Given the description of an element on the screen output the (x, y) to click on. 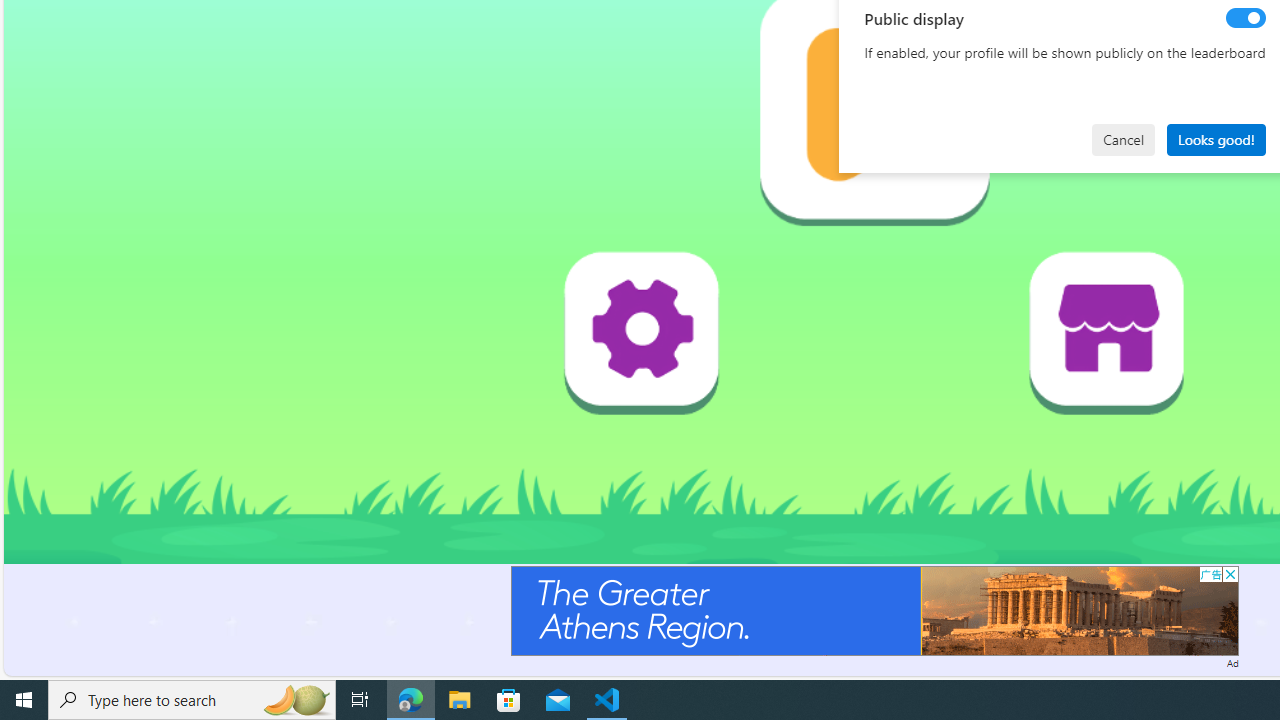
AutomationID: cbb (1229, 574)
Advertisement (874, 610)
Advertisement (874, 610)
Cancel (1123, 139)
Looks good! (1216, 139)
